Given the description of an element on the screen output the (x, y) to click on. 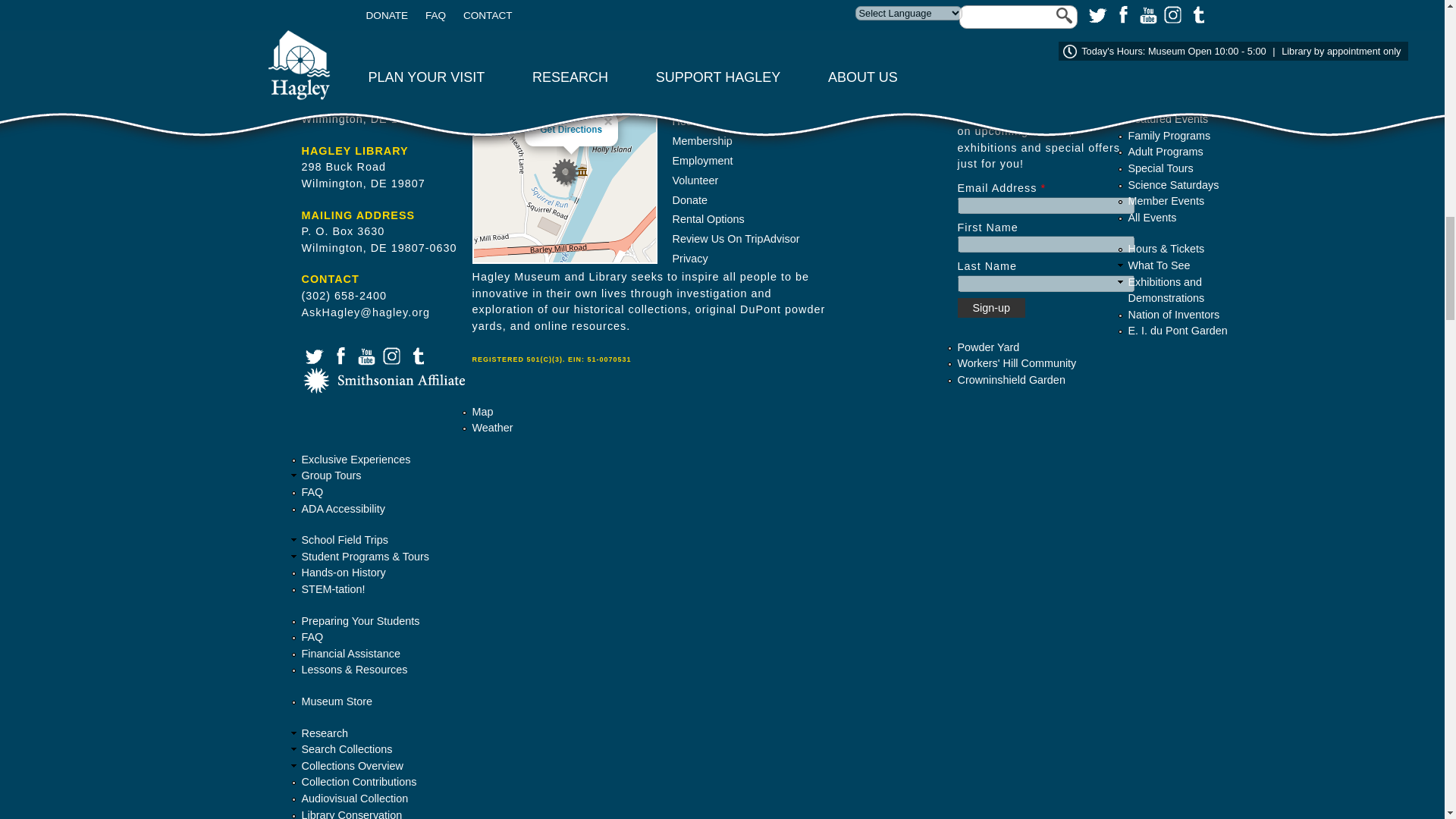
Sign-up (990, 307)
Facebook (338, 354)
Twitter (312, 354)
